Given the description of an element on the screen output the (x, y) to click on. 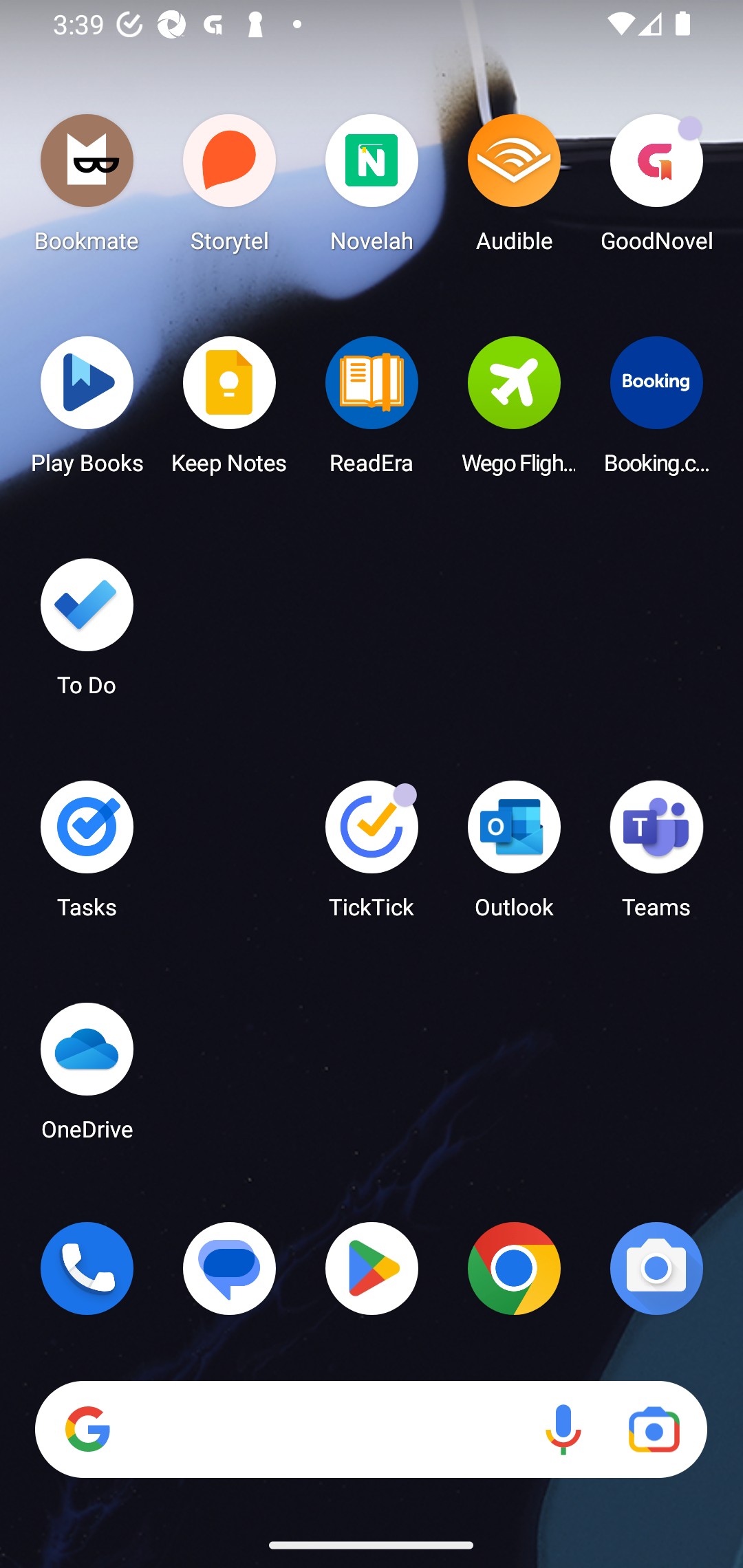
Bookmate (86, 188)
Storytel (229, 188)
Novelah (371, 188)
Audible (513, 188)
GoodNovel GoodNovel has 1 notification (656, 188)
Play Books (86, 410)
Keep Notes (229, 410)
ReadEra (371, 410)
Wego Flights & Hotels (513, 410)
Booking.com (656, 410)
To Do (86, 633)
Tasks (86, 854)
TickTick TickTick has 3 notifications (371, 854)
Outlook (513, 854)
Teams (656, 854)
OneDrive (86, 1076)
Phone (86, 1268)
Messages (229, 1268)
Play Store (371, 1268)
Chrome (513, 1268)
Camera (656, 1268)
Search Voice search Google Lens (370, 1429)
Voice search (562, 1429)
Google Lens (653, 1429)
